Given the description of an element on the screen output the (x, y) to click on. 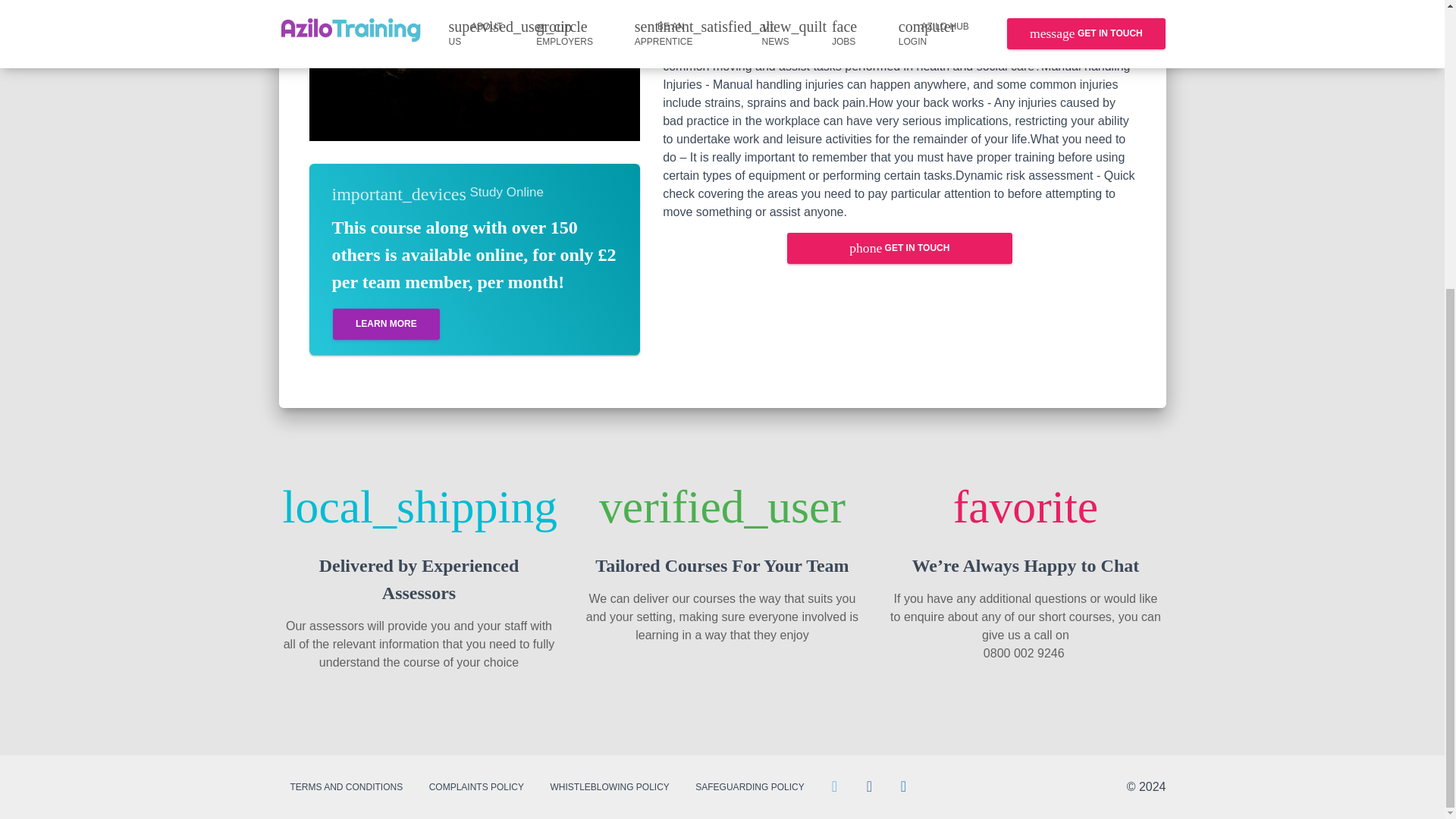
LEARN MORE (385, 323)
WHISTLEBLOWING POLICY (608, 786)
COMPLAINTS POLICY (476, 786)
TERMS AND CONDITIONS (346, 786)
SAFEGUARDING POLICY (749, 786)
